Given the description of an element on the screen output the (x, y) to click on. 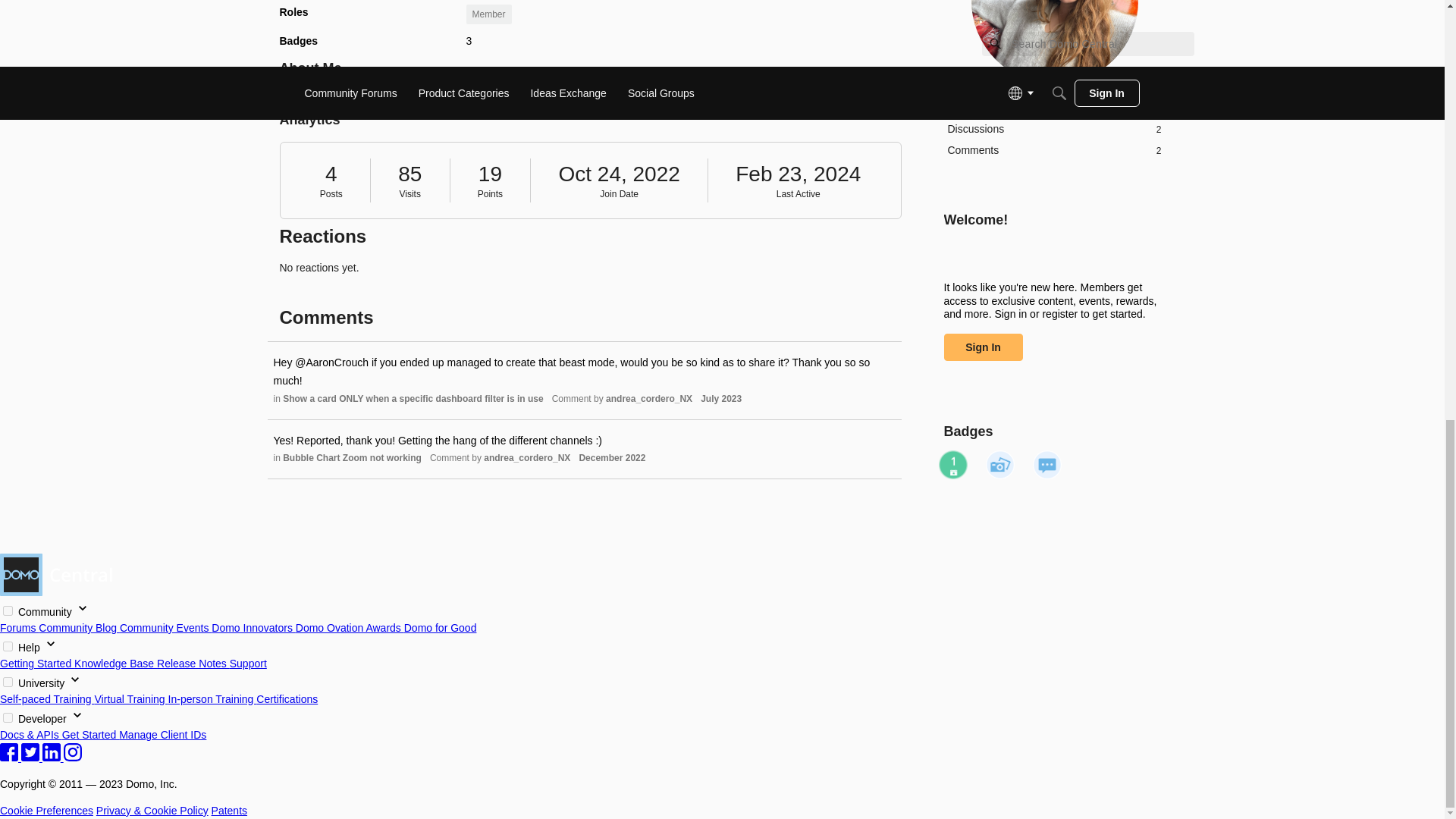
Sign In (1053, 150)
December 2022 (982, 346)
Photogenic (611, 457)
First Anniversary (999, 464)
Sign In (953, 464)
Friday, February 23, 2024 at 3:28 AM (982, 346)
Bubble Chart Zoom not working (797, 173)
Show a card ONLY when a specific dashboard filter is in use (352, 457)
July 2023 (412, 398)
